Given the description of an element on the screen output the (x, y) to click on. 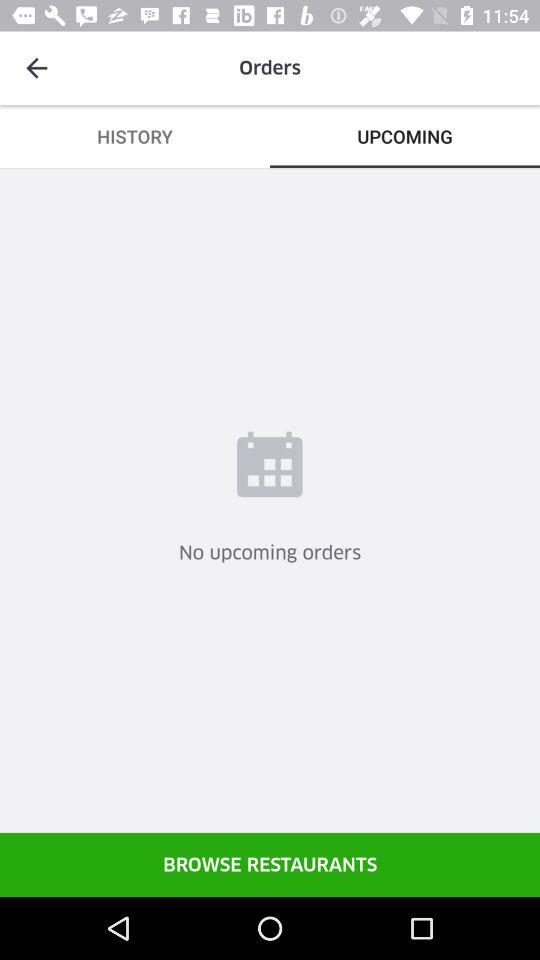
launch the icon next to orders icon (36, 68)
